Given the description of an element on the screen output the (x, y) to click on. 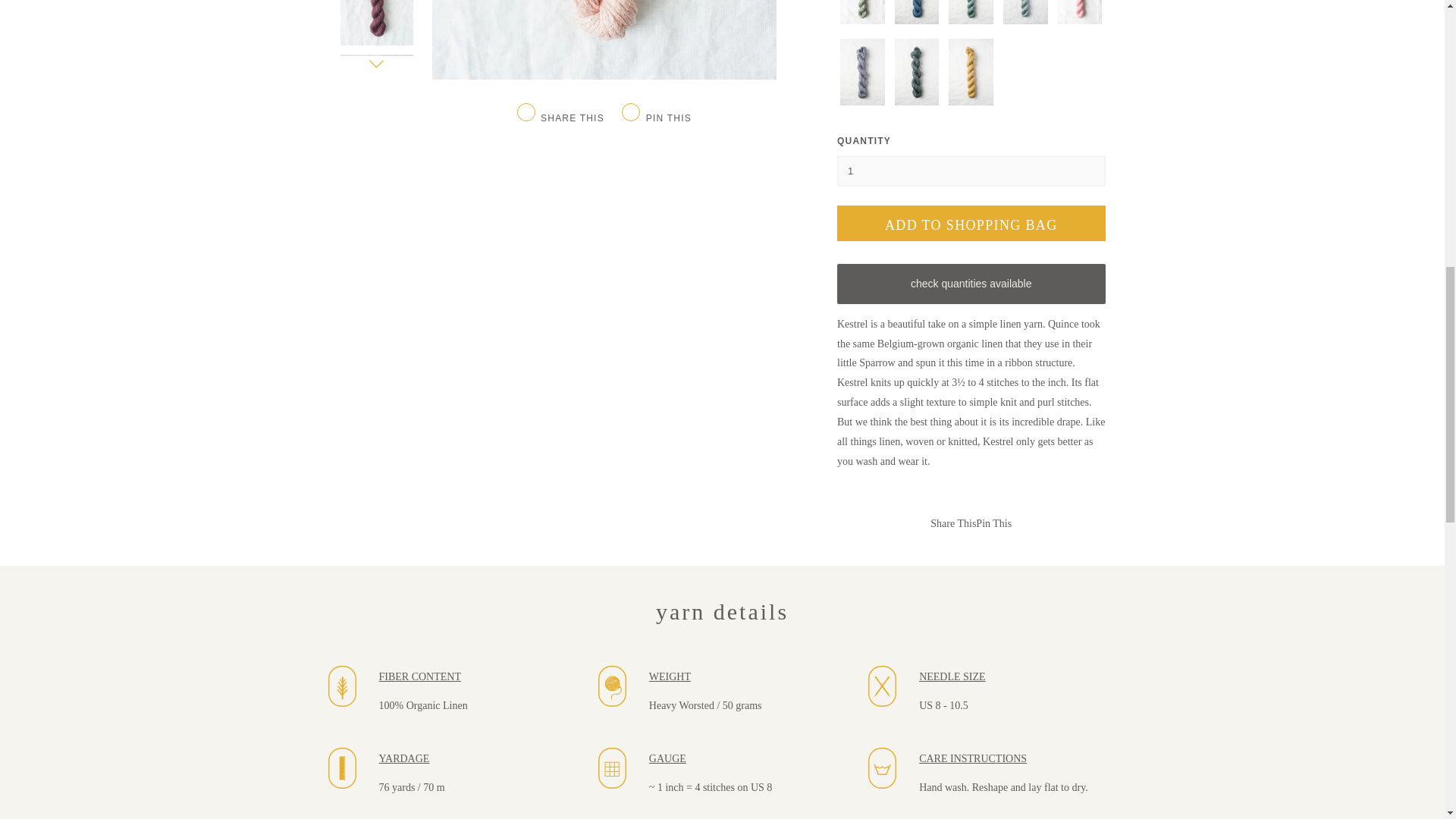
1 (971, 170)
